Given the description of an element on the screen output the (x, y) to click on. 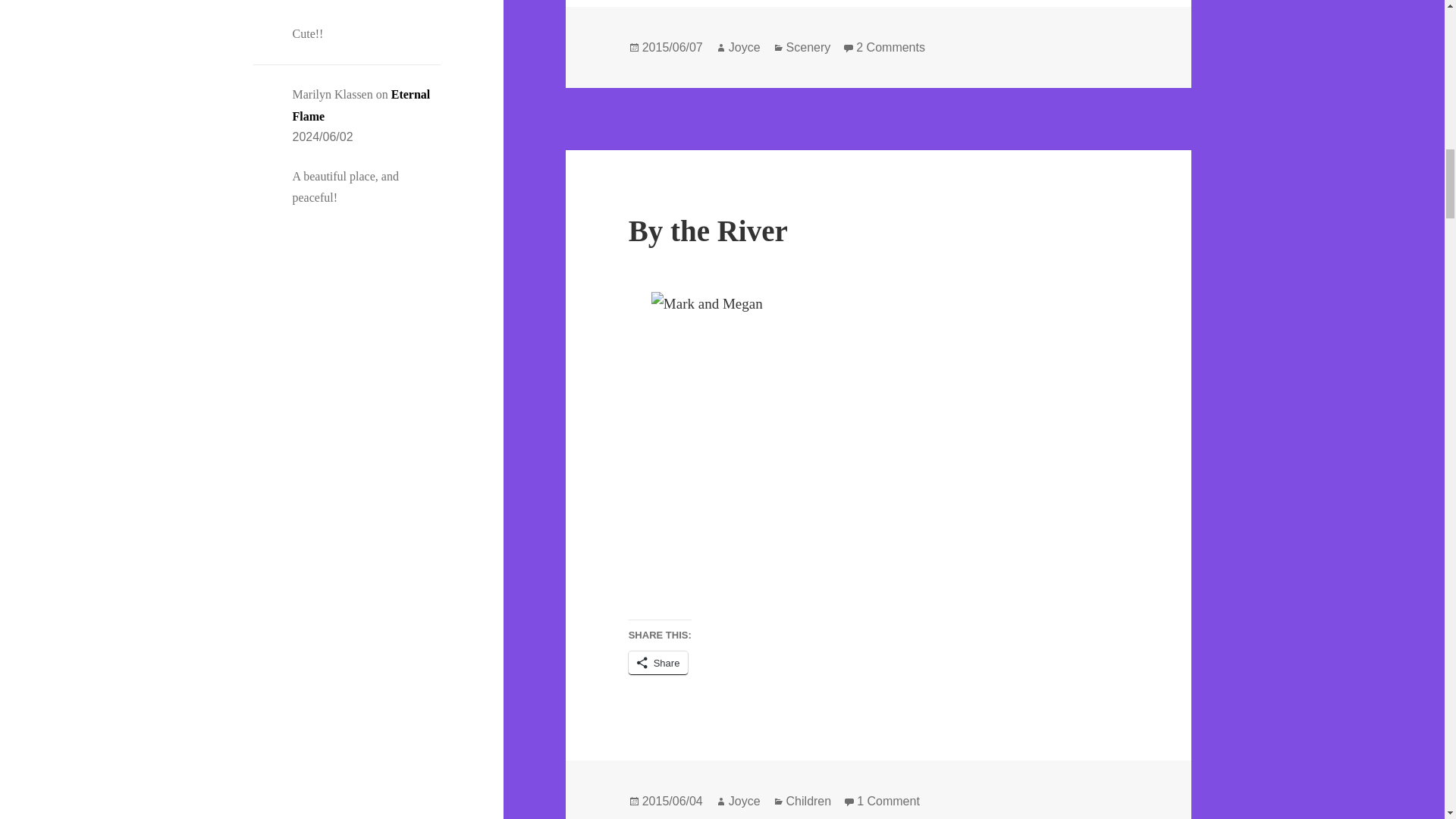
Scenery (890, 47)
Eternal Flame (808, 47)
Joyce (361, 104)
